Given the description of an element on the screen output the (x, y) to click on. 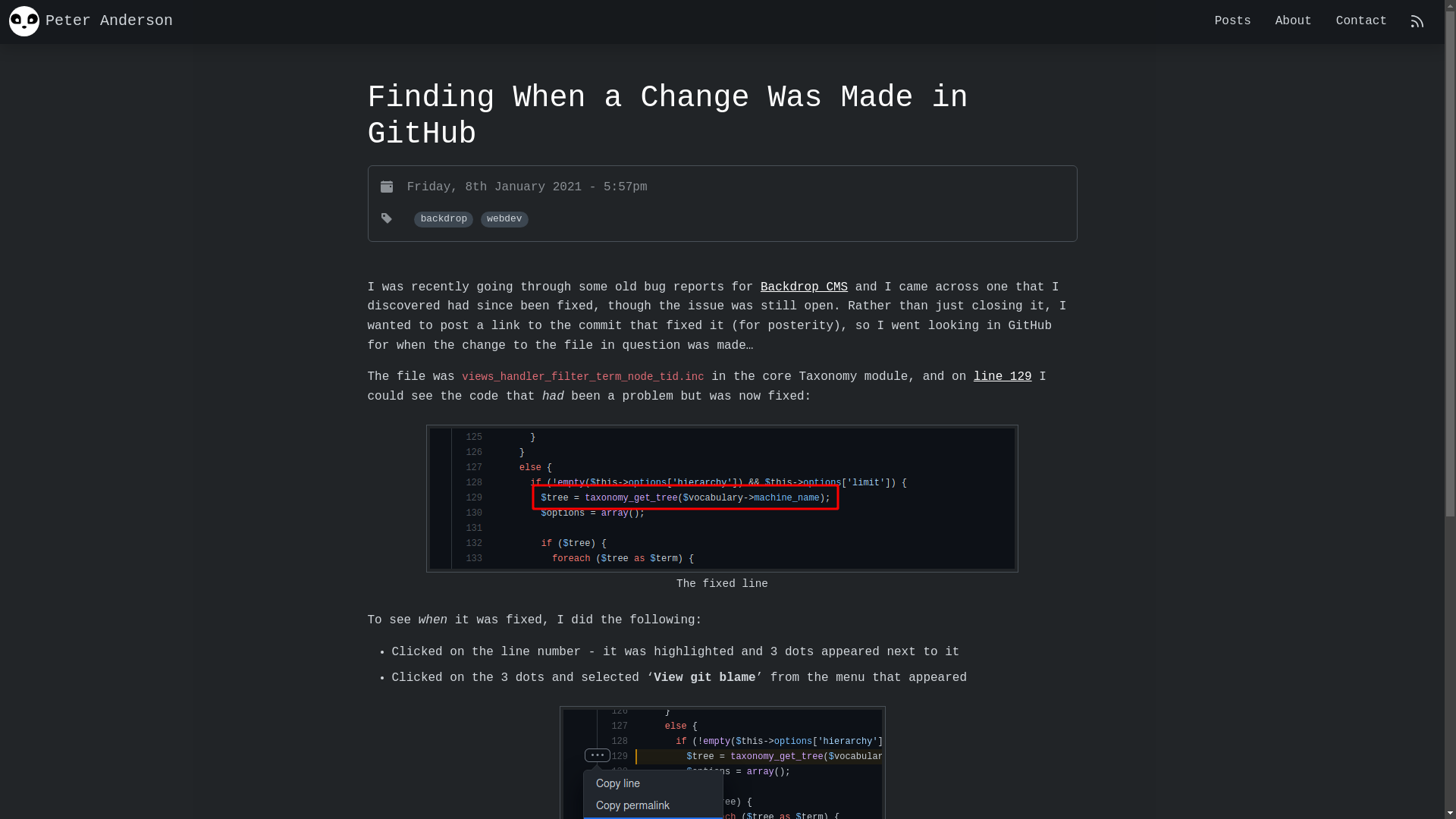
Backdrop CMS Element type: text (803, 287)
Posts Element type: text (1232, 21)
webdev Element type: text (504, 219)
line 129 Element type: text (1002, 376)
Contact Element type: text (1361, 21)
backdrop Element type: text (443, 219)
About Element type: text (1293, 21)
Peter Anderson Element type: text (90, 21)
